Given the description of an element on the screen output the (x, y) to click on. 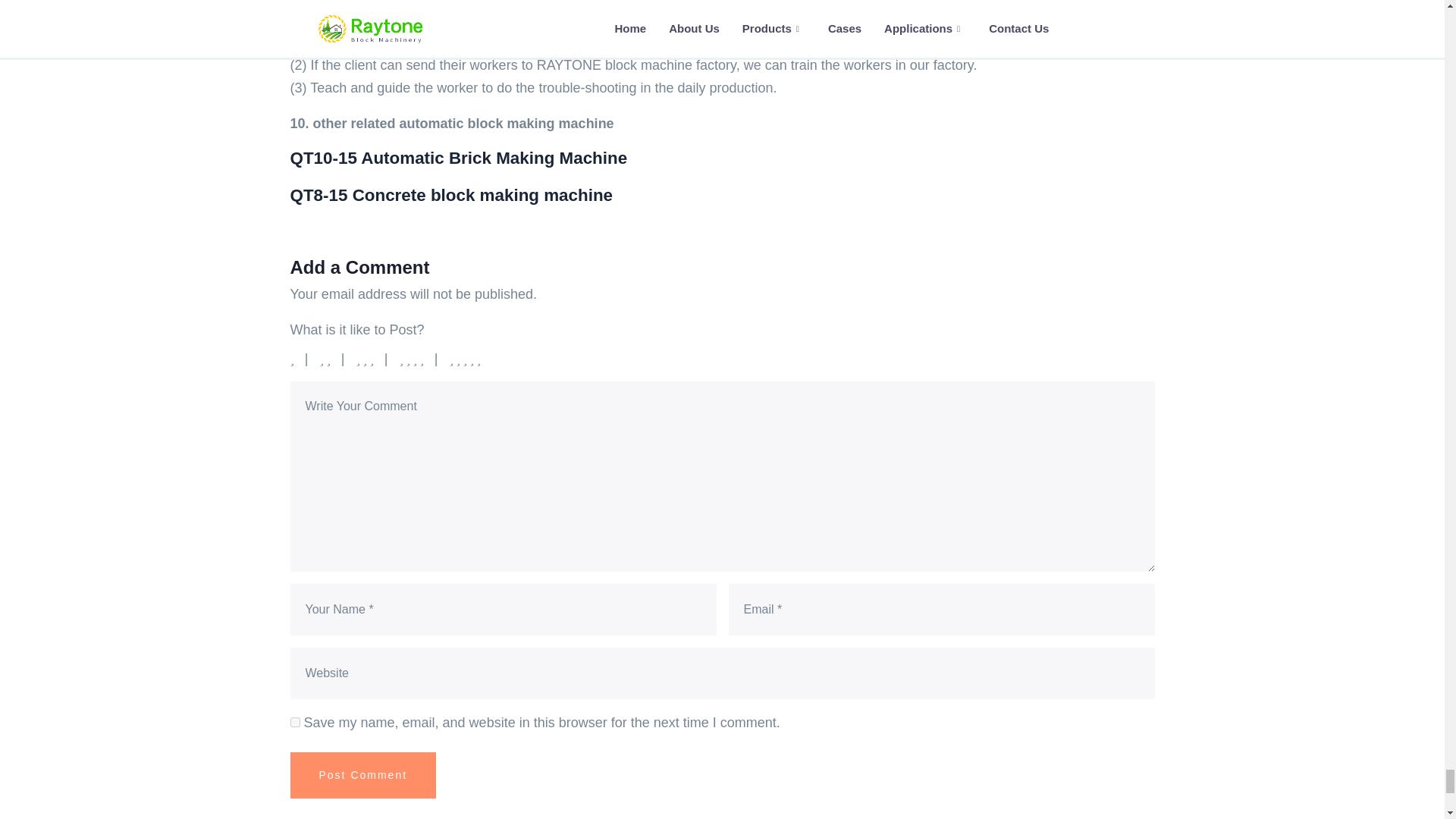
yes (294, 722)
Post Comment (362, 775)
